Given the description of an element on the screen output the (x, y) to click on. 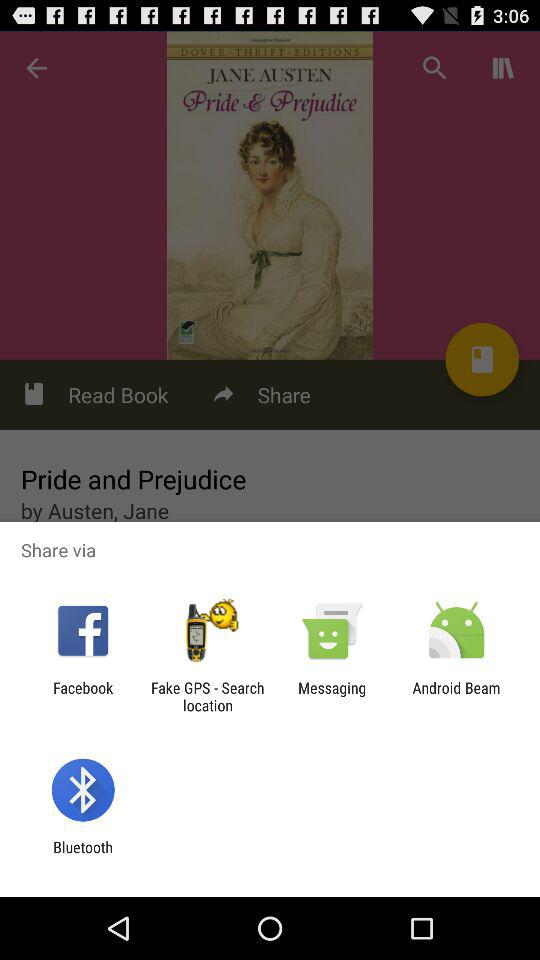
click the item next to the messaging item (456, 696)
